Given the description of an element on the screen output the (x, y) to click on. 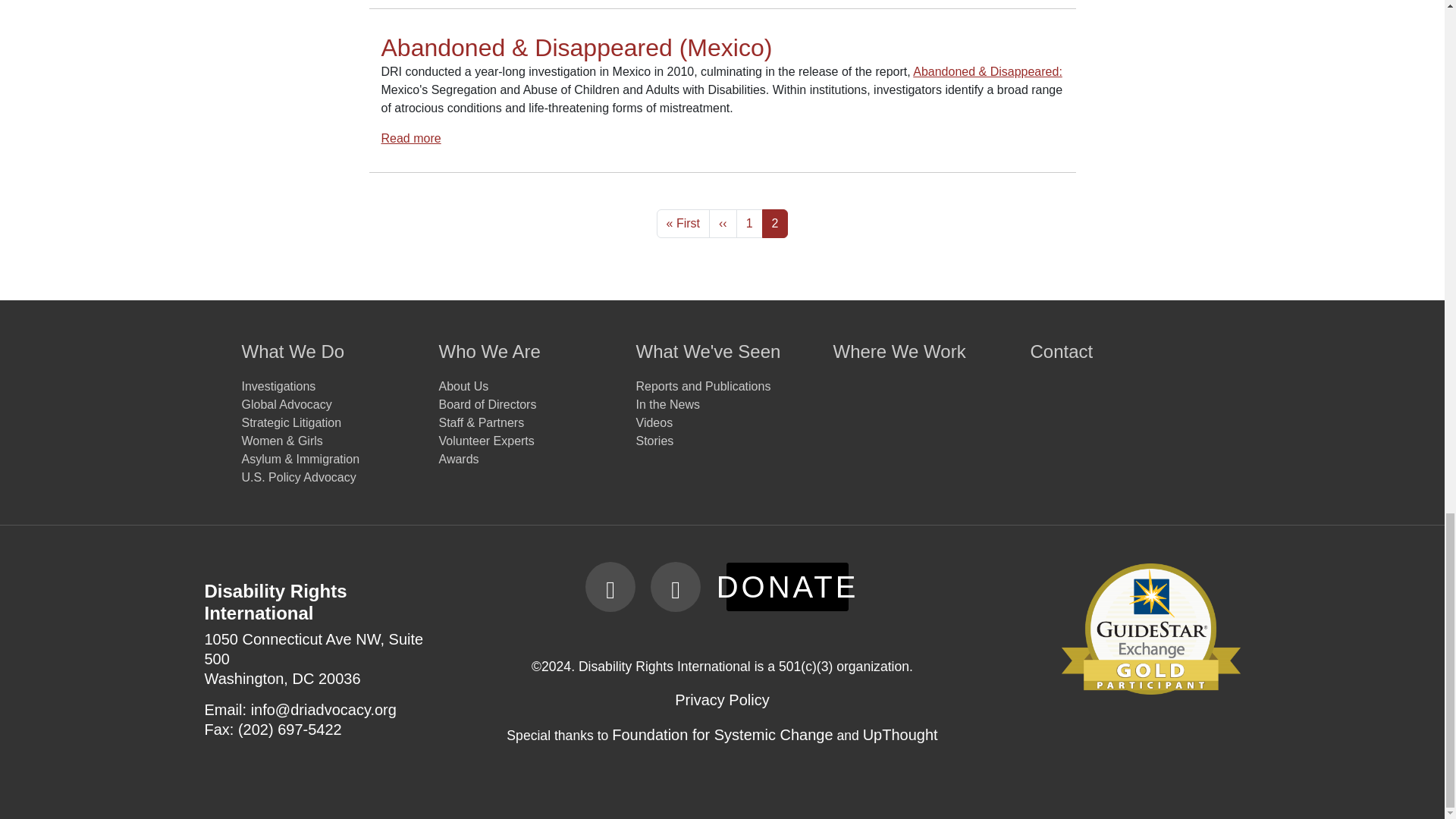
Go to first page (683, 223)
Current page (775, 223)
Go to previous page (722, 223)
Go to page 1 (749, 223)
